Given the description of an element on the screen output the (x, y) to click on. 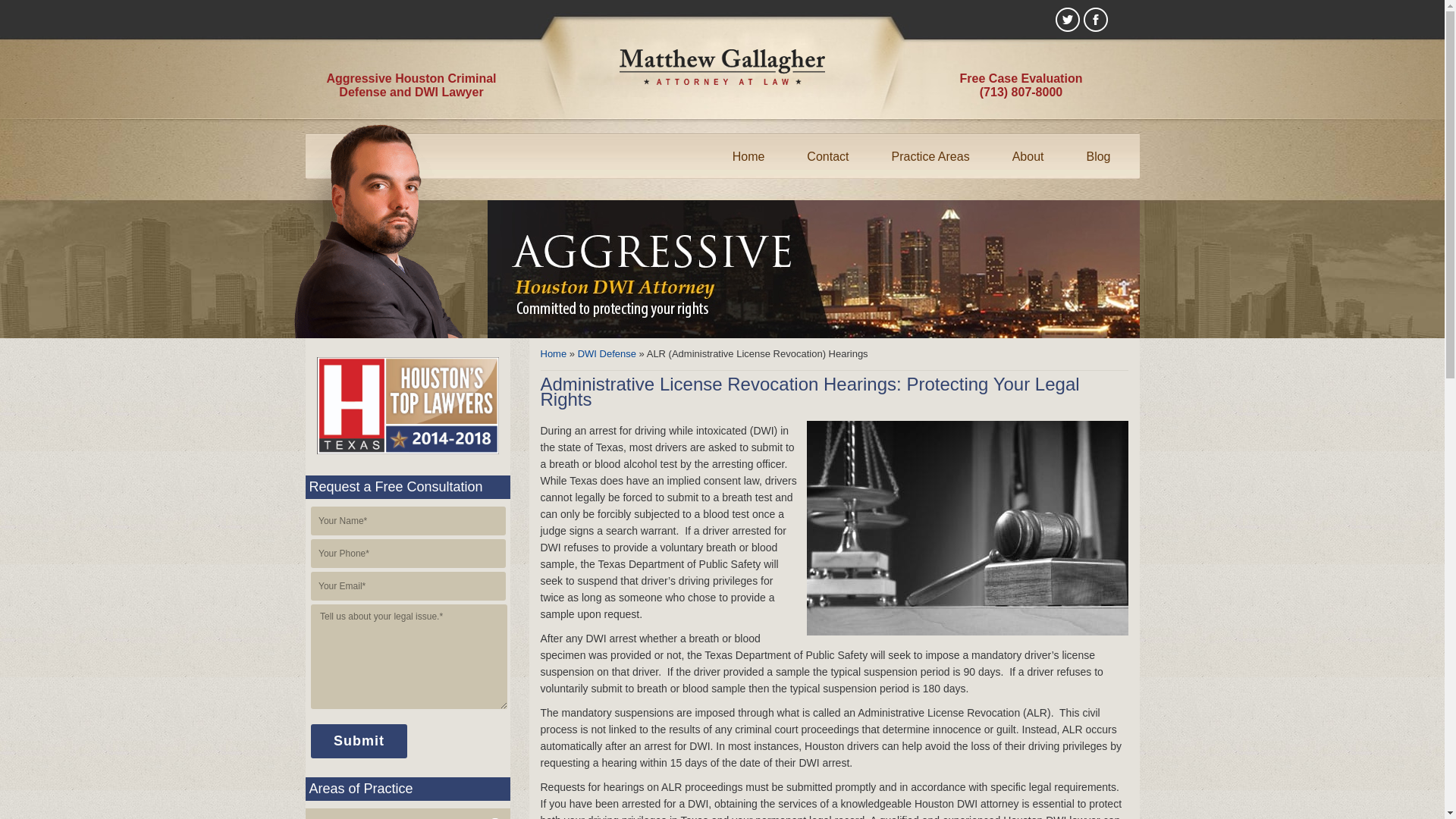
Home (748, 156)
Submit (359, 740)
Practice Areas (930, 156)
Free Case Evaluation (1021, 78)
Contact (827, 156)
